Given the description of an element on the screen output the (x, y) to click on. 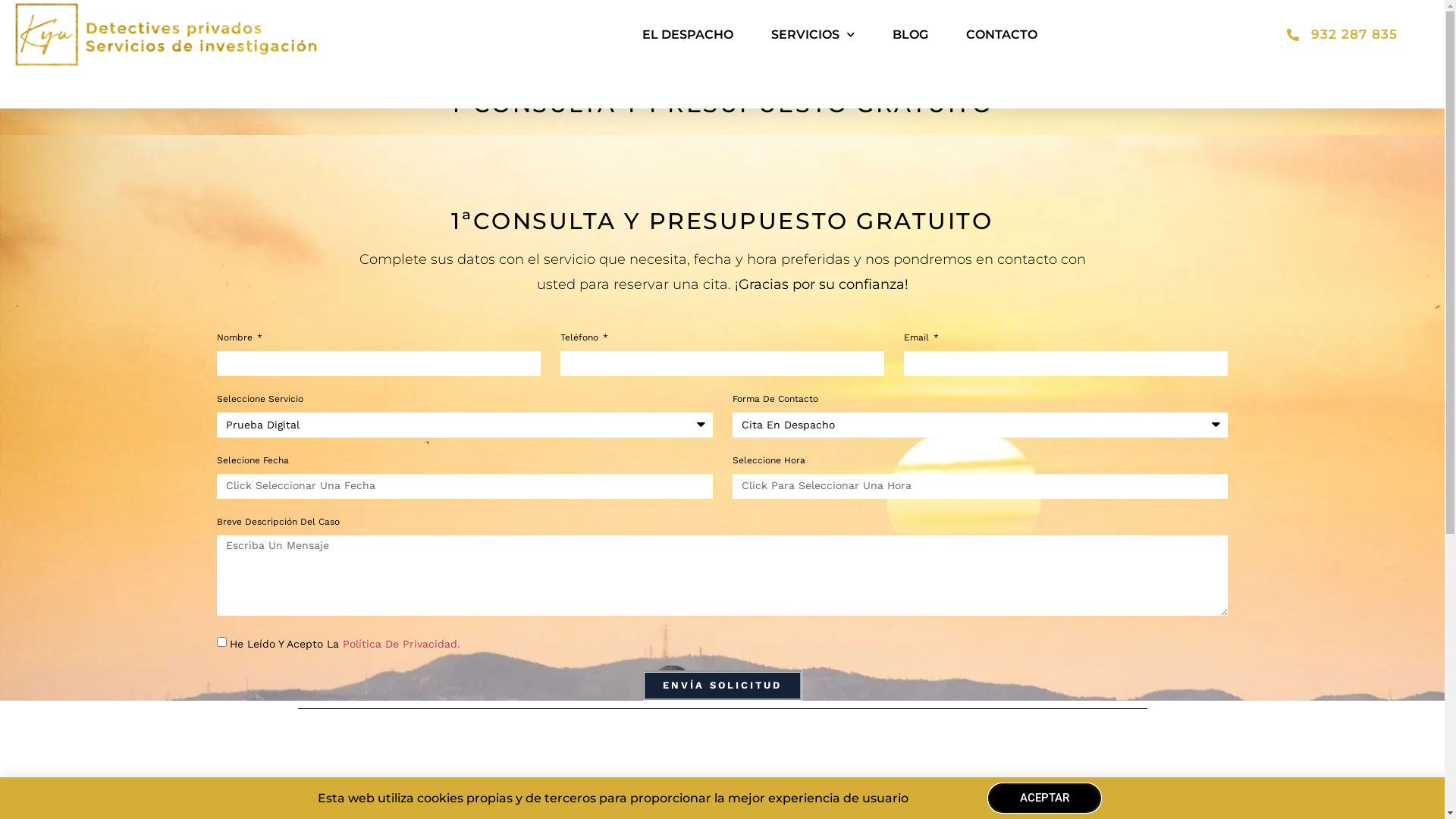
CONTACTO Element type: text (1001, 34)
932 287 835 Element type: text (1249, 34)
SERVICIOS Element type: text (812, 34)
ACEPTAR Element type: text (1044, 797)
EL DESPACHO Element type: text (687, 34)
BLOG Element type: text (910, 34)
